Given the description of an element on the screen output the (x, y) to click on. 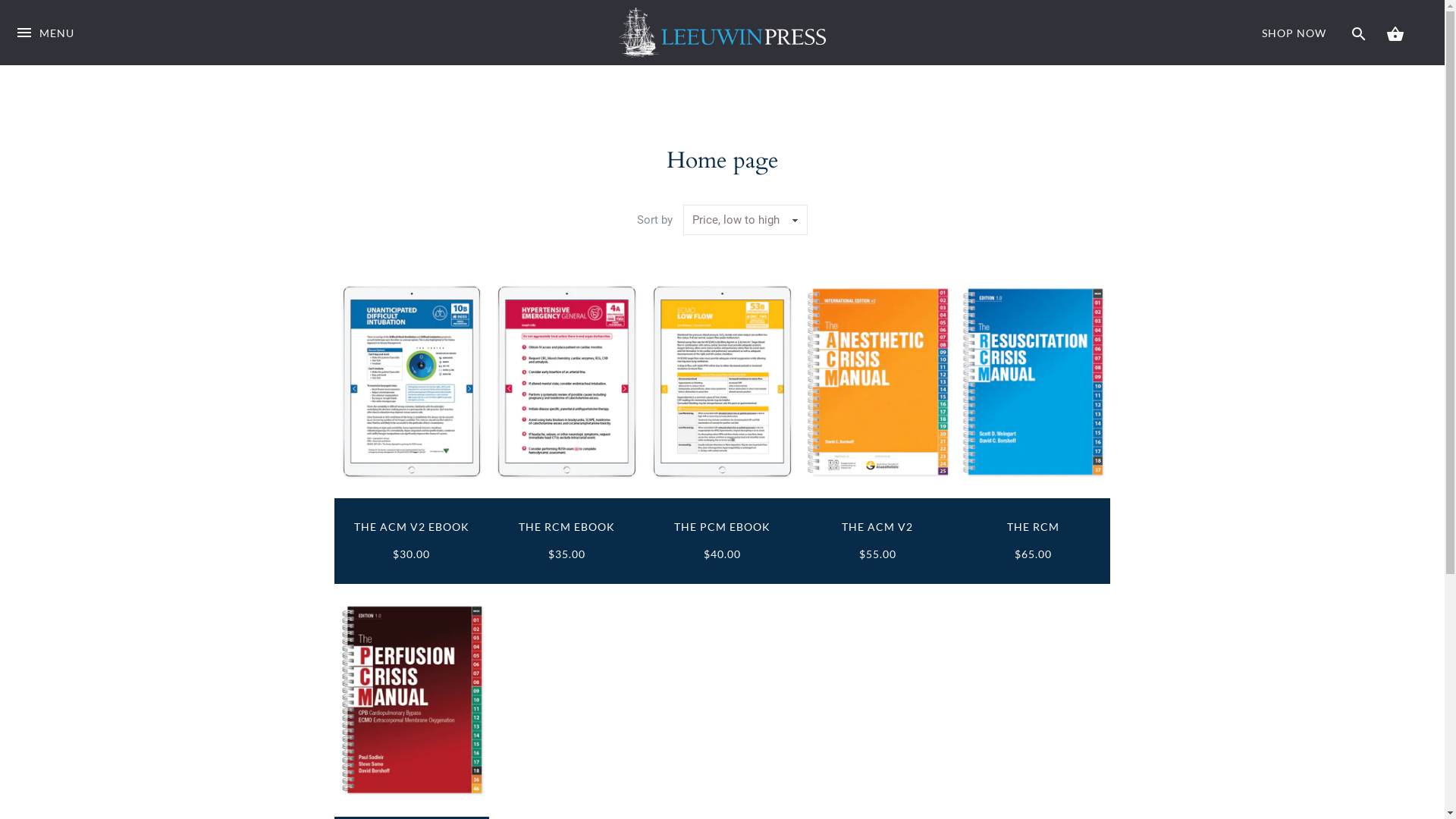
THE RCM EBOOK
$35.00 Element type: text (566, 540)
THE RCM
$65.00 Element type: text (1032, 540)
THE PCM EBOOK
$40.00 Element type: text (722, 540)
CART Element type: text (1395, 32)
SEARCH Element type: text (1358, 32)
MENU Element type: text (44, 43)
THE ACM V2 EBOOK
$30.00 Element type: text (411, 540)
THE ACM V2
$55.00 Element type: text (876, 540)
